Given the description of an element on the screen output the (x, y) to click on. 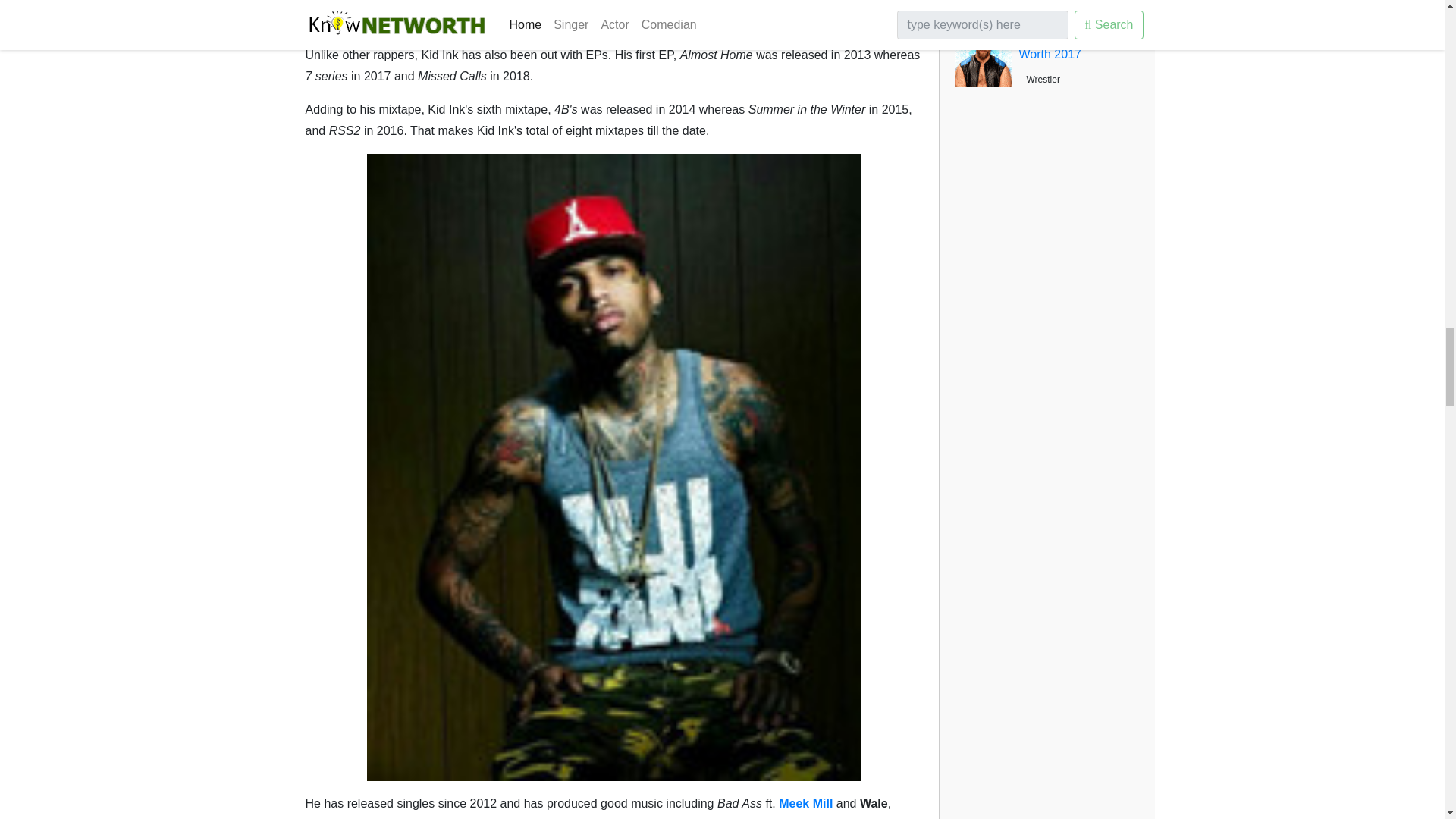
Meek Mill (805, 802)
